Given the description of an element on the screen output the (x, y) to click on. 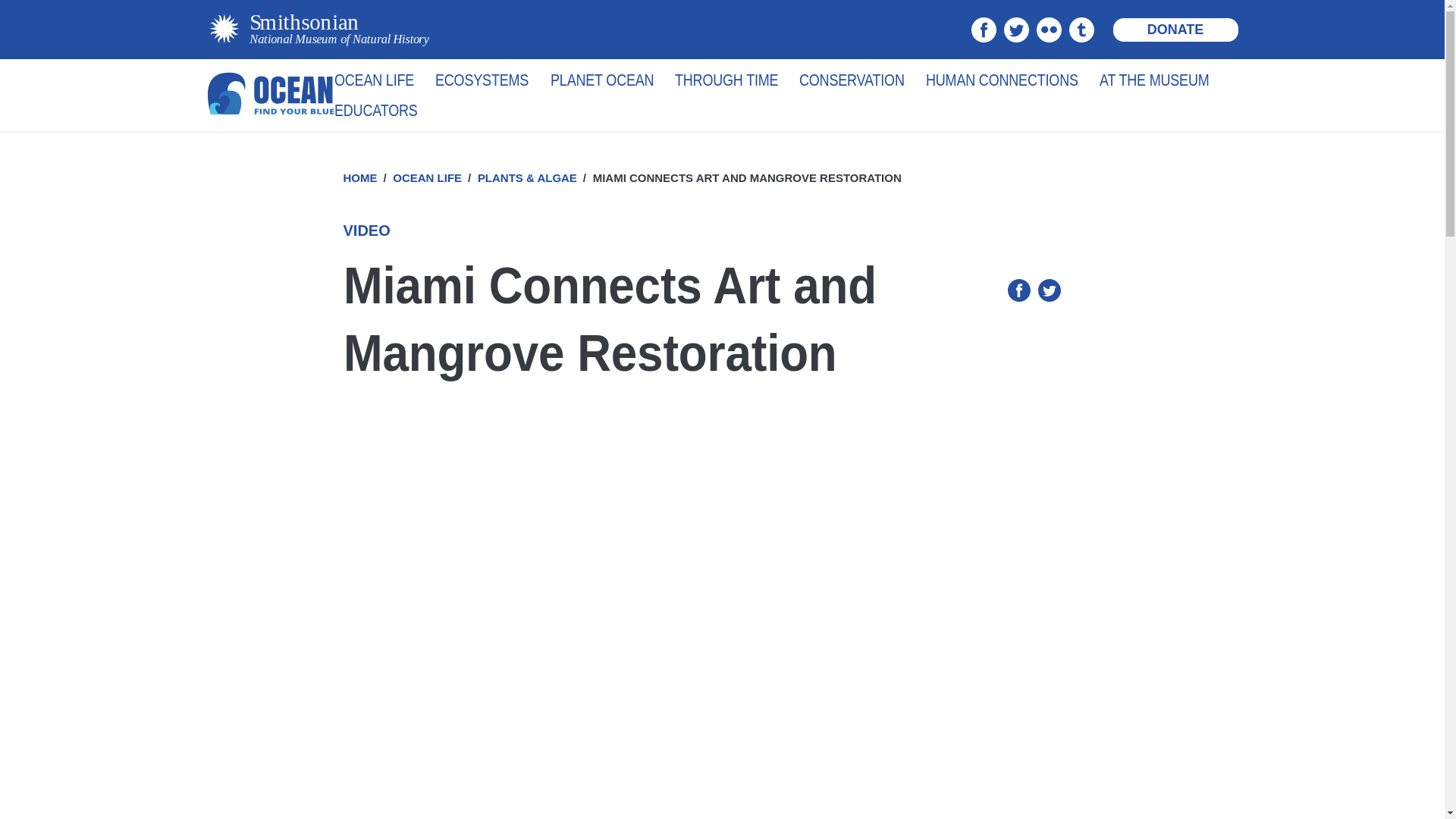
Smithsonian Ocean (270, 94)
Follow us on Facebook (983, 28)
Follow us on Flickr (1048, 28)
Follow us on Twitter (1016, 28)
Smithsonian Institution (317, 29)
OCEAN LIFE (373, 77)
THROUGH TIME (726, 77)
DONATE (1176, 29)
Skip to main content (634, 4)
ECOSYSTEMS (481, 77)
